Given the description of an element on the screen output the (x, y) to click on. 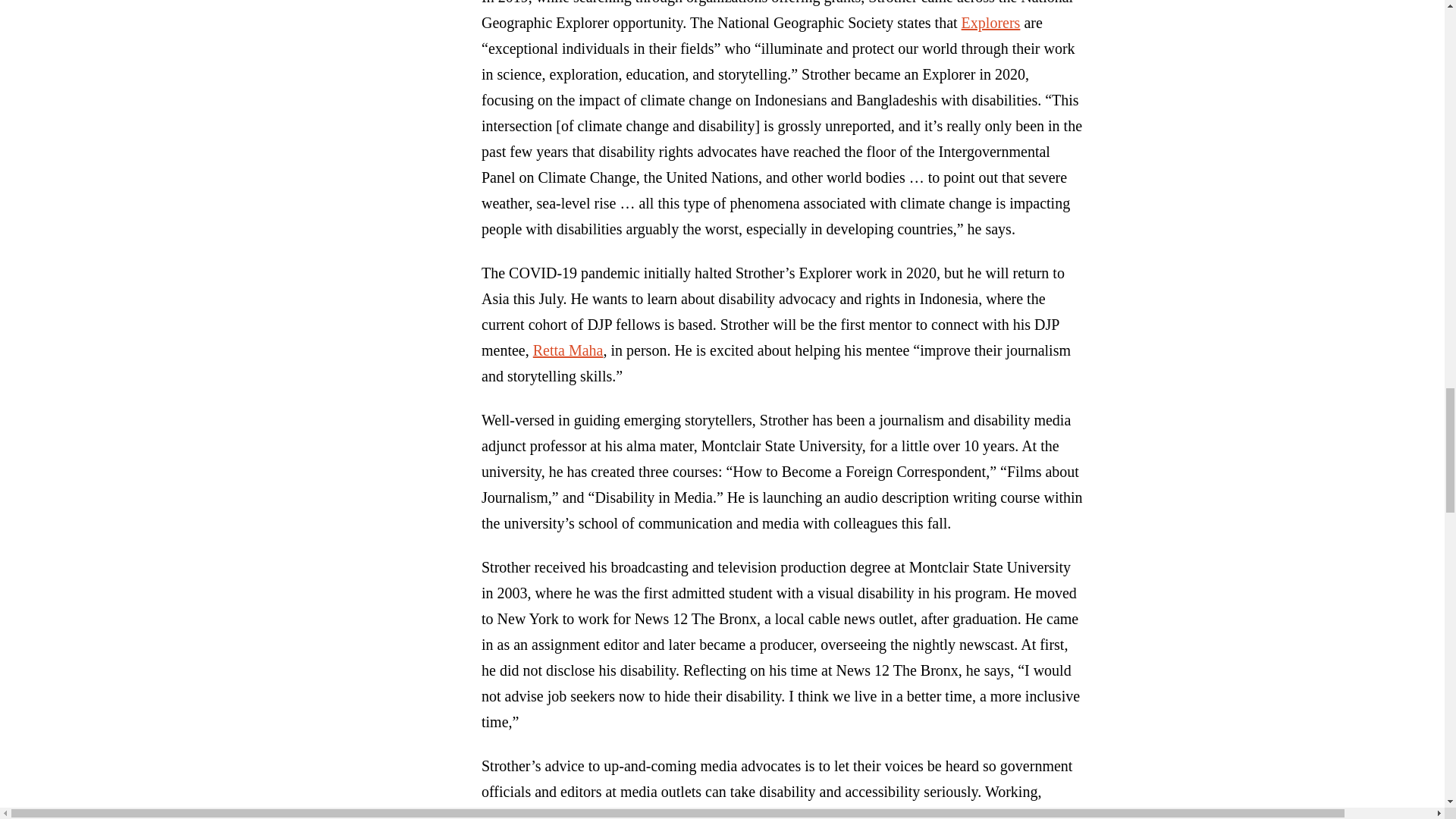
Retta Maha (568, 350)
Explorers (990, 22)
